Given the description of an element on the screen output the (x, y) to click on. 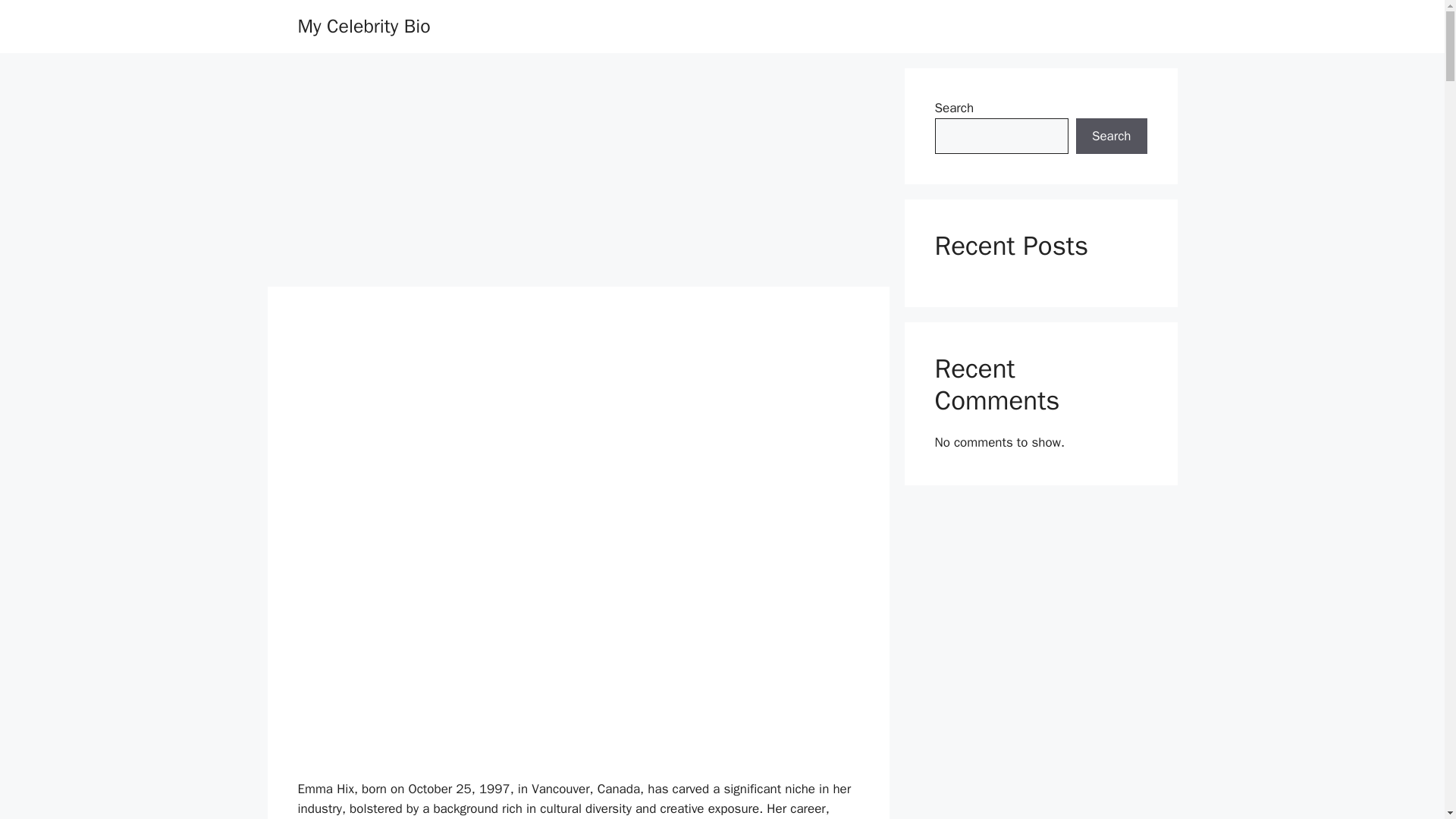
Advertisement (578, 667)
Advertisement (578, 449)
Advertisement (577, 173)
My Celebrity Bio (363, 25)
Search (1111, 135)
